Given the description of an element on the screen output the (x, y) to click on. 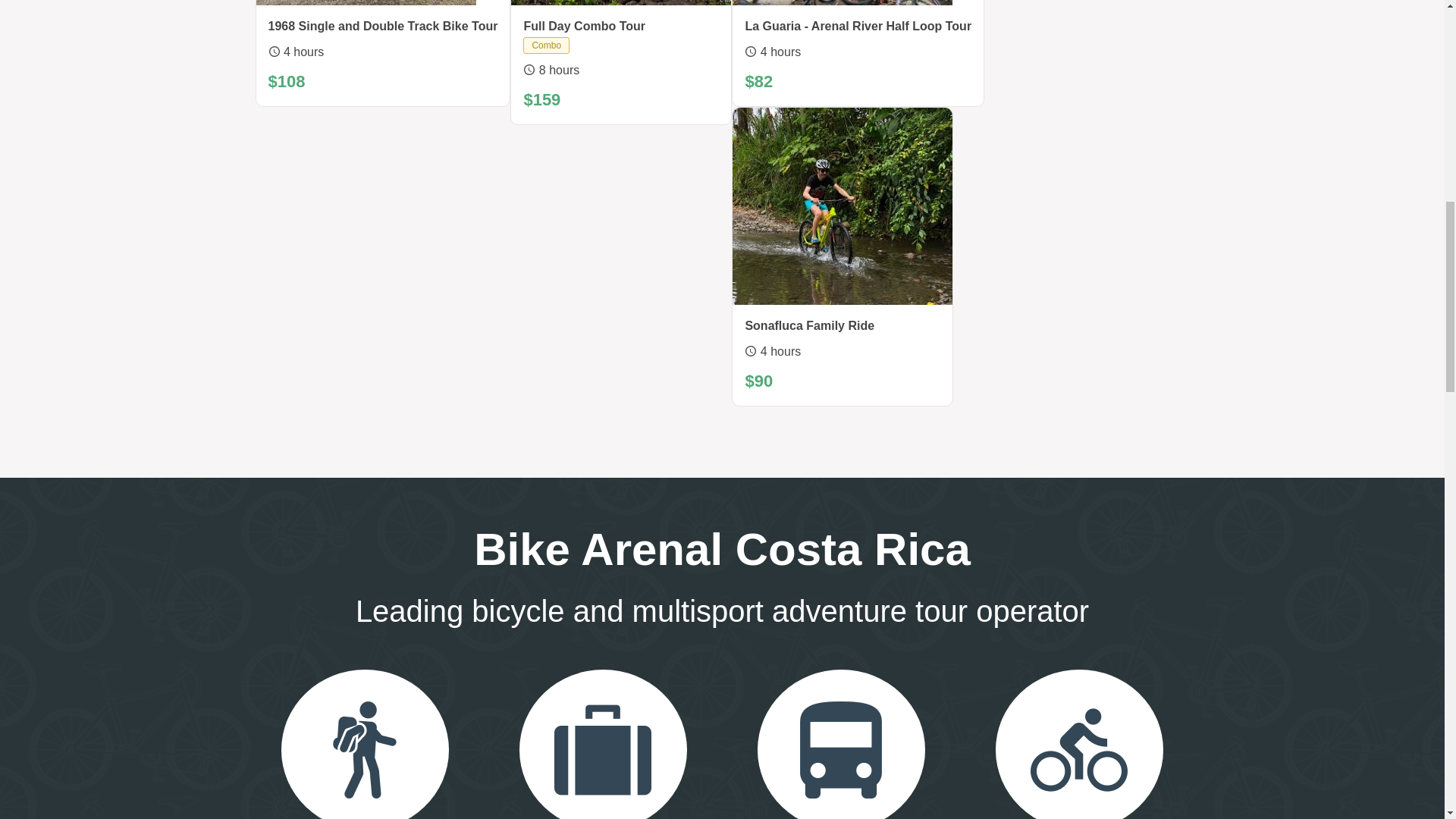
Full Day Combo Tour (583, 26)
La Guaria - Arenal River Half Loop Tour (857, 26)
Sonafluca Family Ride (809, 325)
1968 Single and Double Track Bike Tour (382, 26)
